Given the description of an element on the screen output the (x, y) to click on. 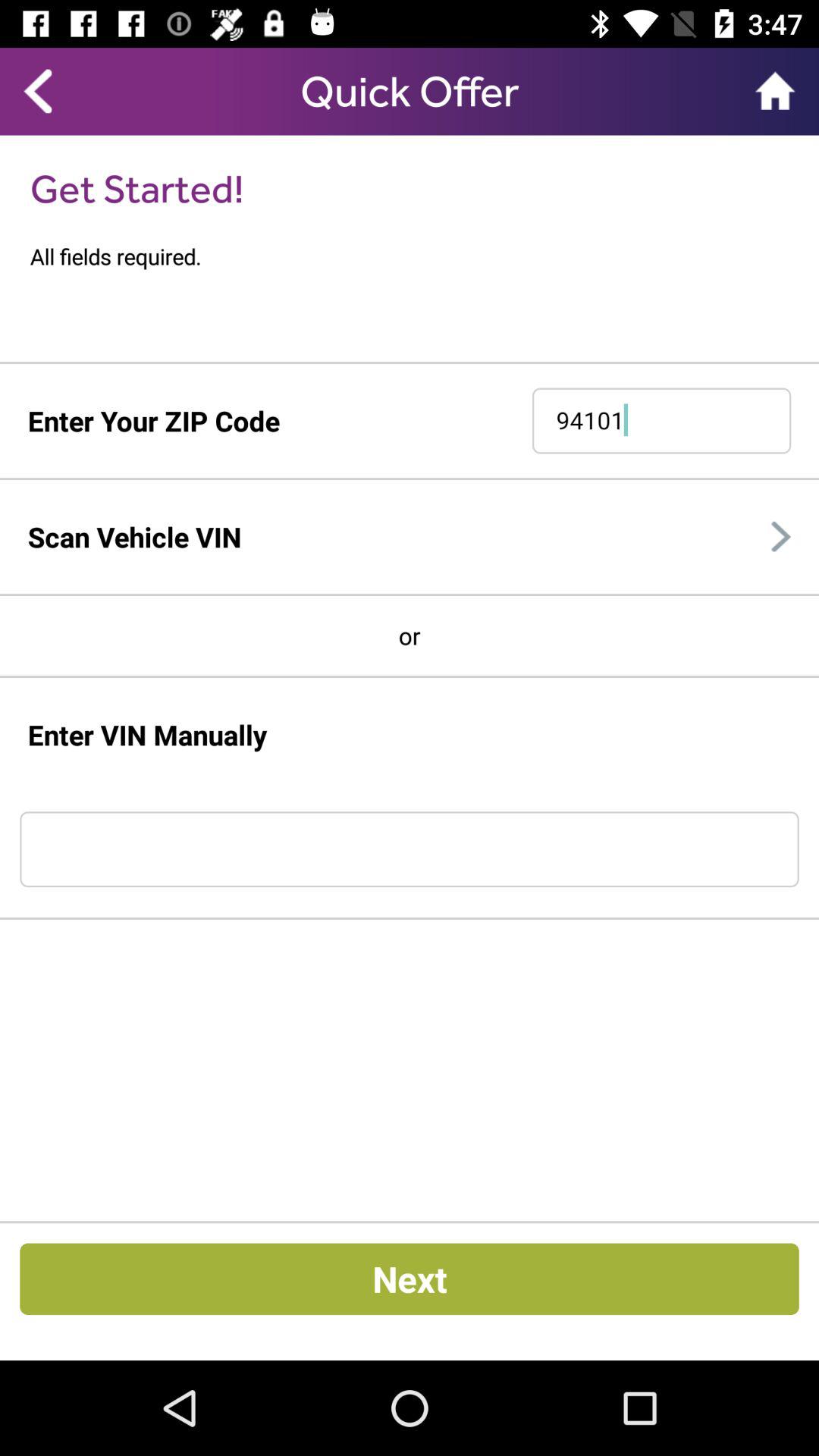
click on enter your zip code (153, 420)
click on next button at bottom (409, 1278)
select text get started (137, 188)
choose the text below the get started (424, 256)
click on the enter vin manually (147, 735)
enter the text below enter vin manally (409, 848)
select header (409, 90)
